Given the description of an element on the screen output the (x, y) to click on. 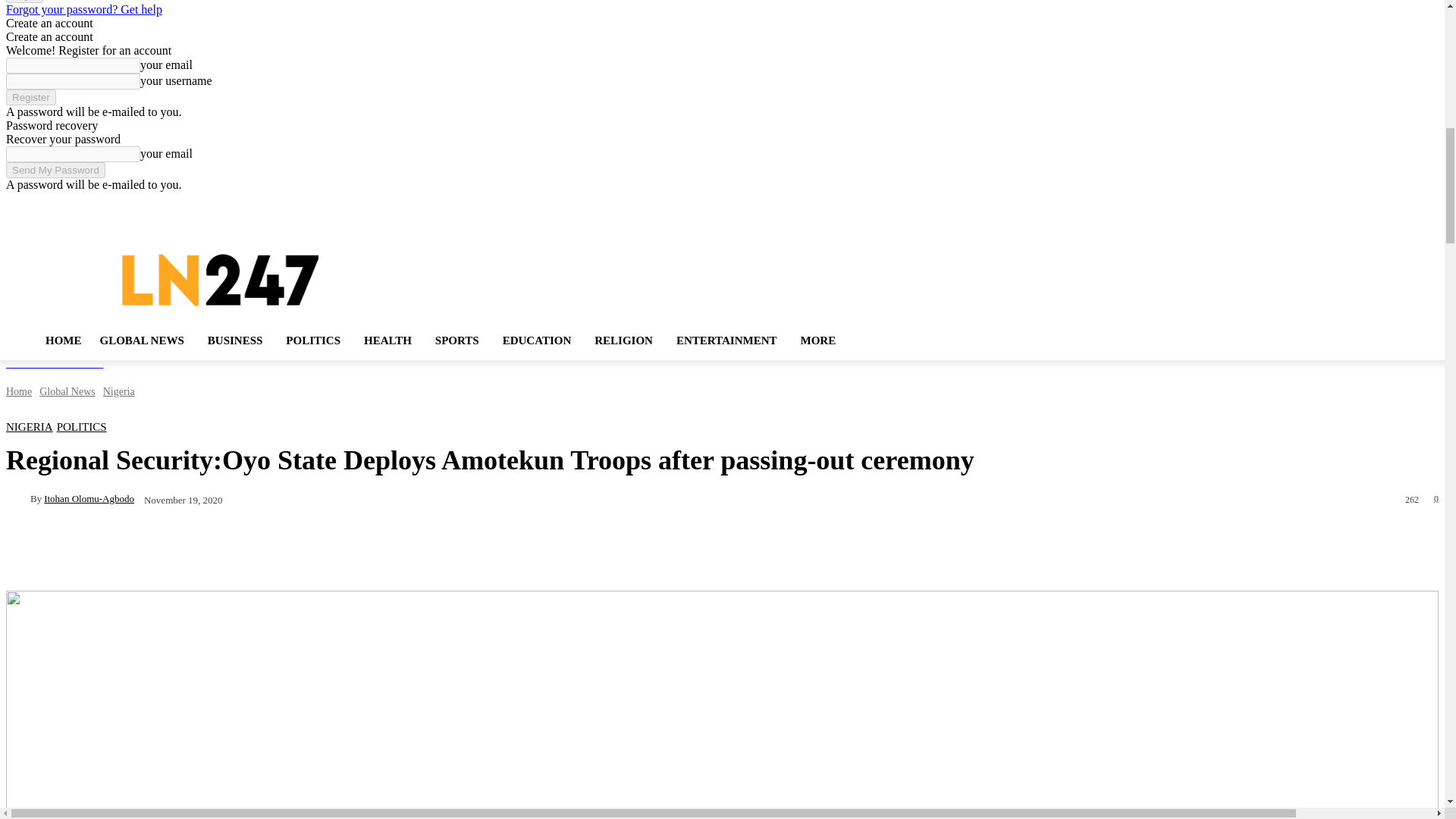
Send My Password (54, 170)
Instagram (1366, 203)
Register (30, 97)
Youtube (1409, 203)
Facebook (1346, 203)
Twitter (1388, 203)
Login (24, 1)
